Given the description of an element on the screen output the (x, y) to click on. 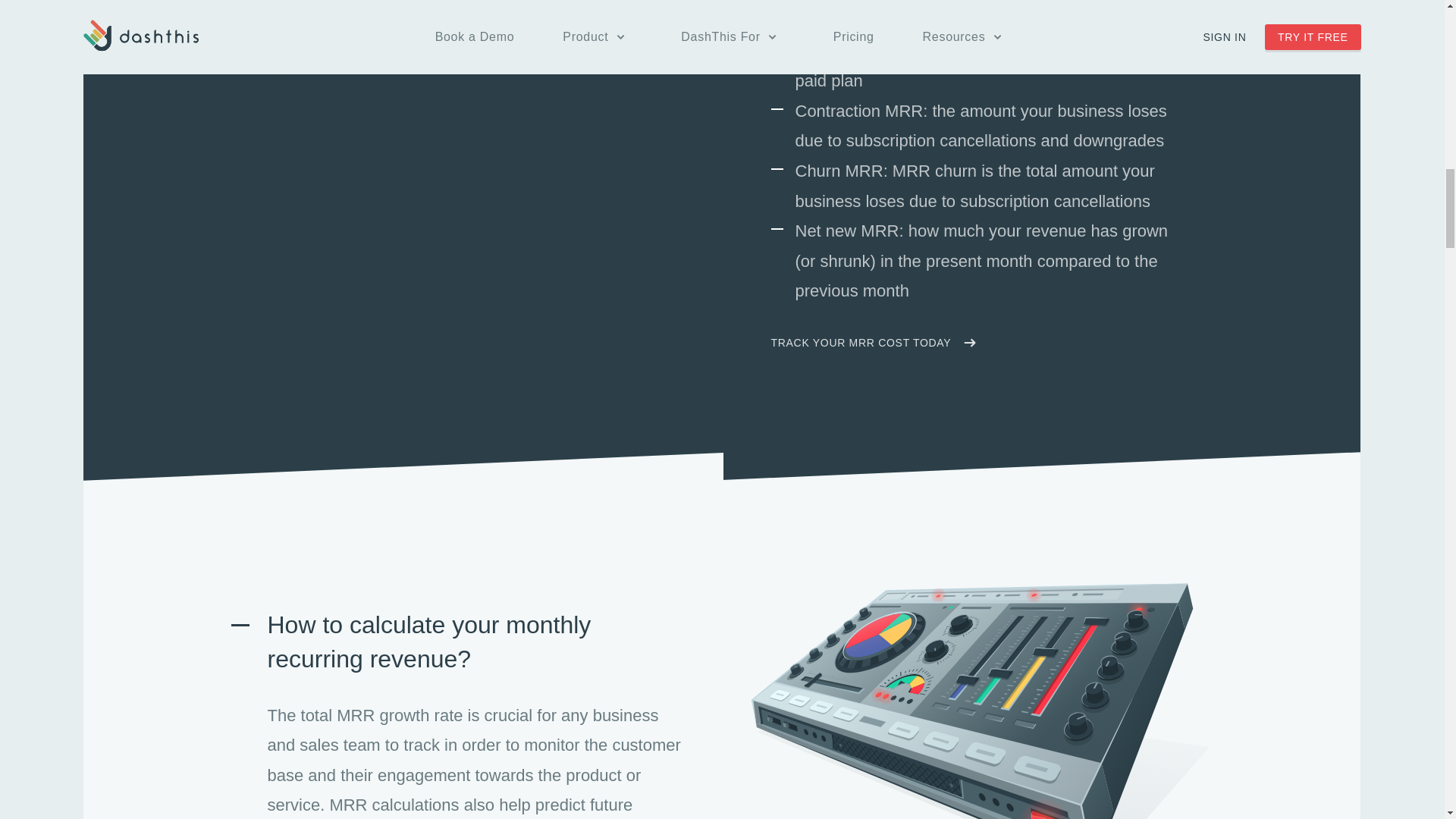
TRACK YOUR MRR COST TODAY (872, 342)
